Given the description of an element on the screen output the (x, y) to click on. 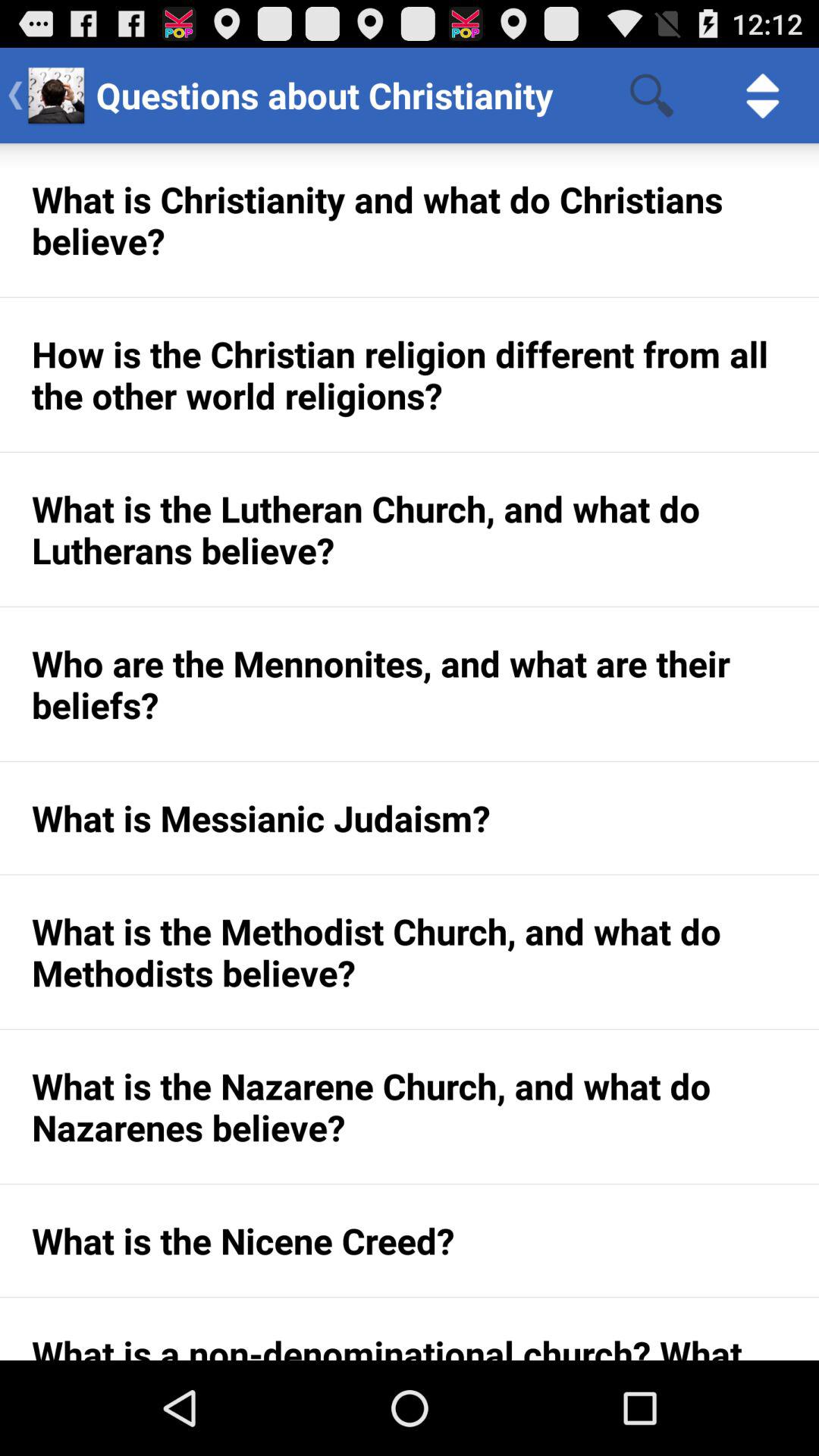
choose item above what is christianity app (763, 95)
